Given the description of an element on the screen output the (x, y) to click on. 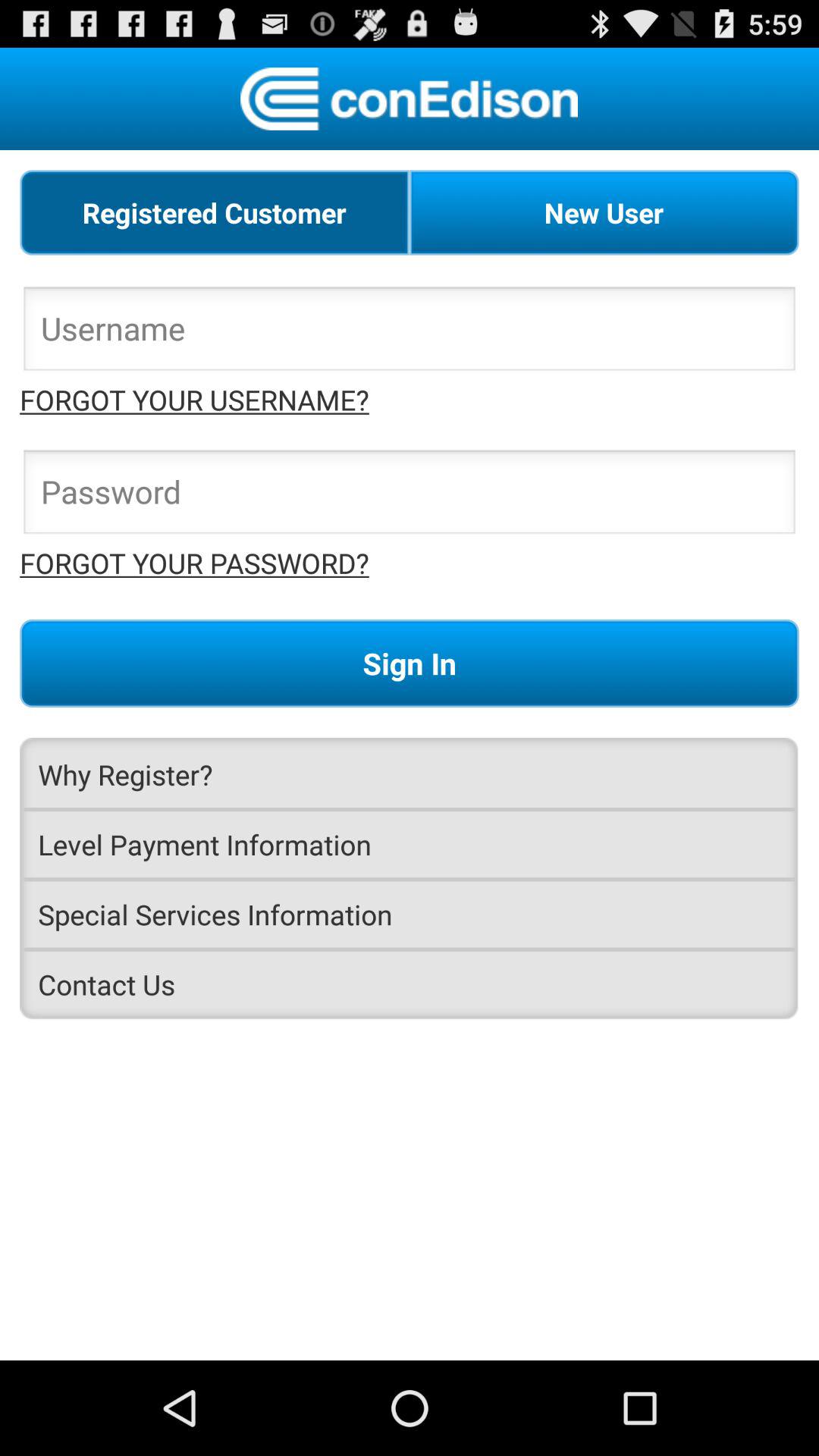
flip to the special services information icon (409, 914)
